Given the description of an element on the screen output the (x, y) to click on. 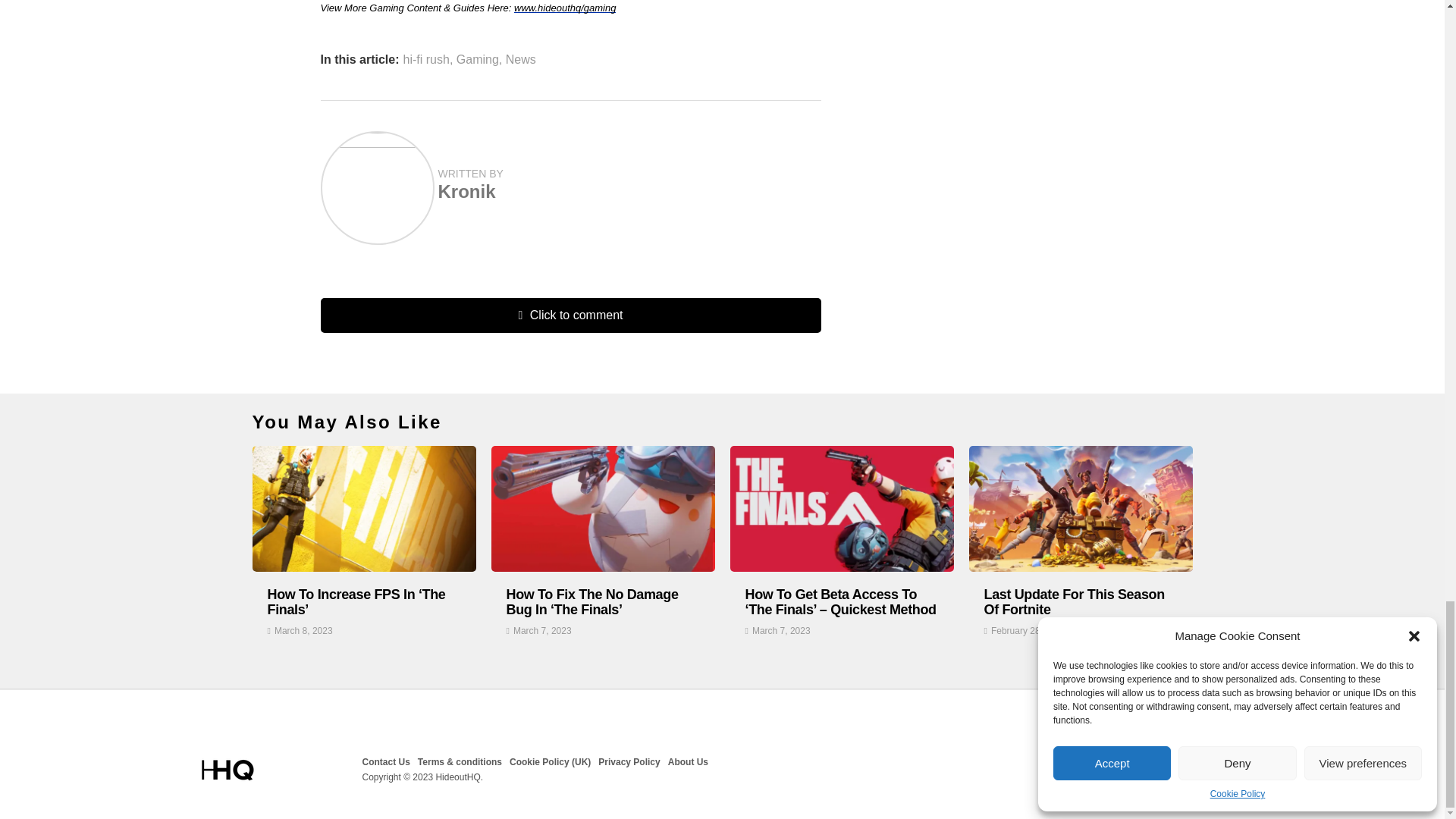
Posts by Kronik (467, 190)
